Given the description of an element on the screen output the (x, y) to click on. 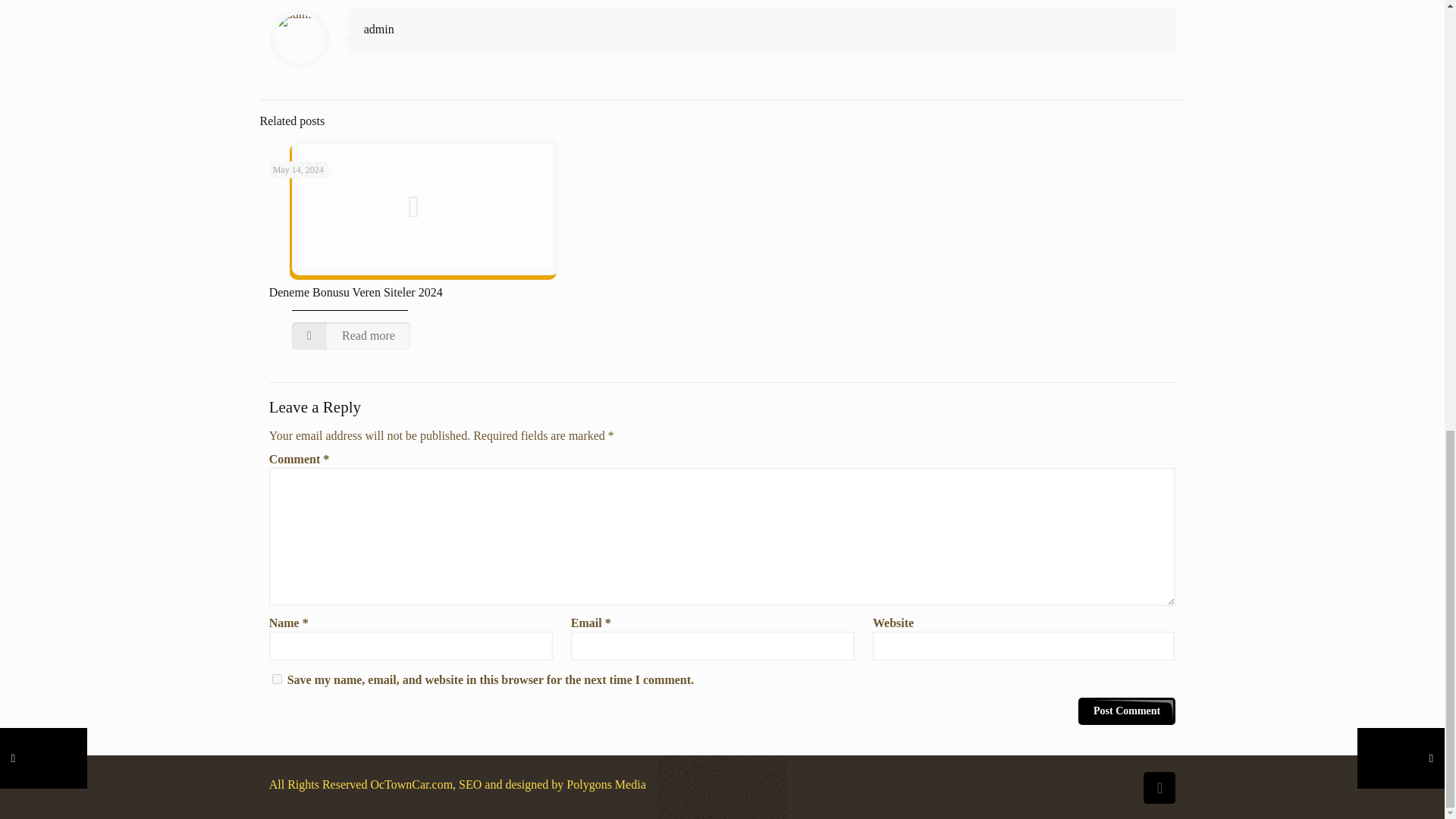
Post Comment (1126, 710)
yes (277, 678)
Read more (351, 335)
SEO and designed by Polygons Media (550, 784)
admin (379, 29)
Deneme Bonusu Veren Siteler 2024 (355, 291)
Post Comment (1126, 710)
